Given the description of an element on the screen output the (x, y) to click on. 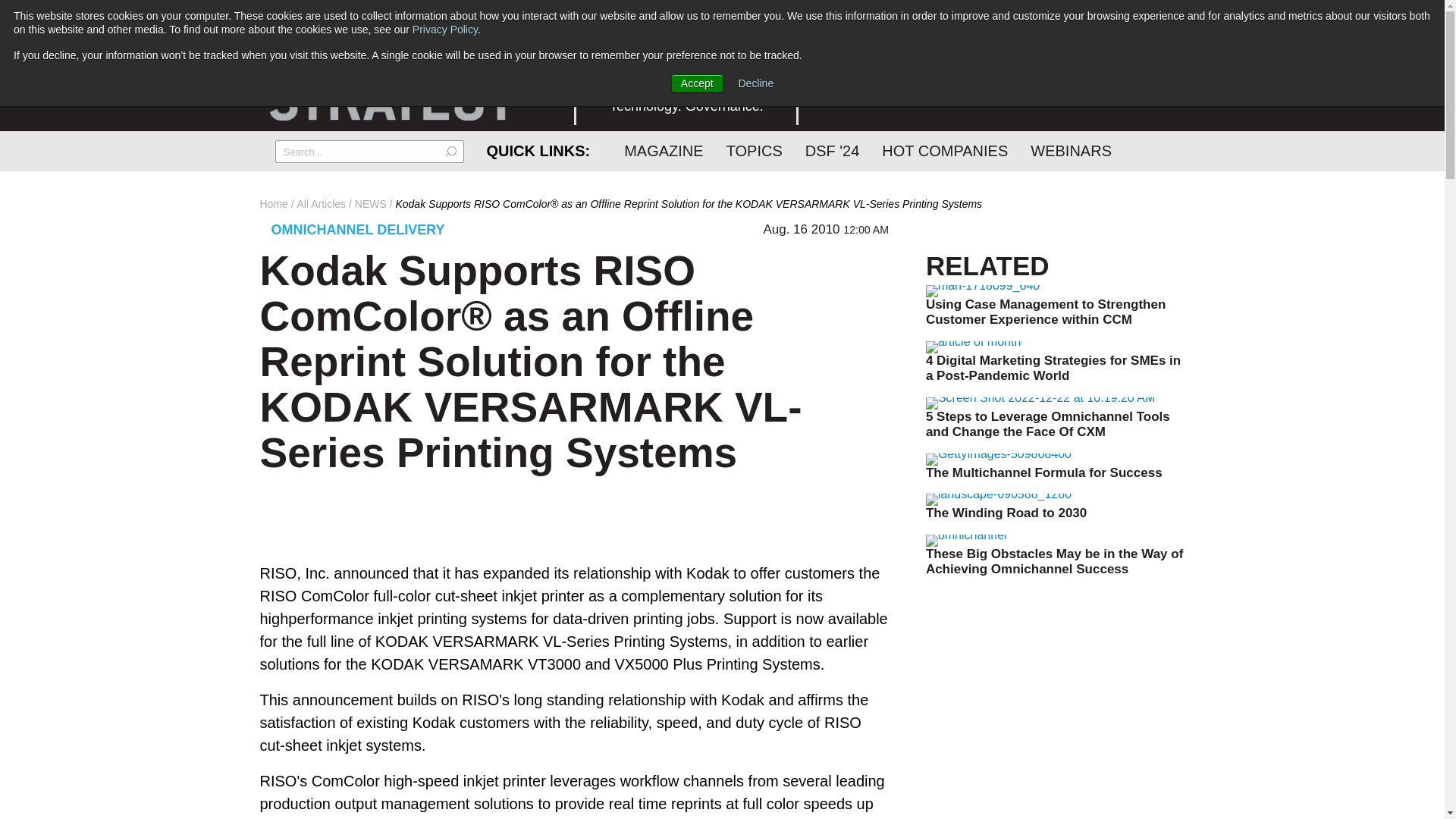
Sign Up for Our Newsletter (686, 48)
Privacy Policy (444, 29)
Subscribe (686, 48)
Decline (756, 82)
DSF '24 (831, 151)
HOT COMPANIES (944, 151)
Accept (697, 83)
MAGAZINE (663, 151)
TOPICS (753, 151)
Document Strategy Media  (393, 74)
